Given the description of an element on the screen output the (x, y) to click on. 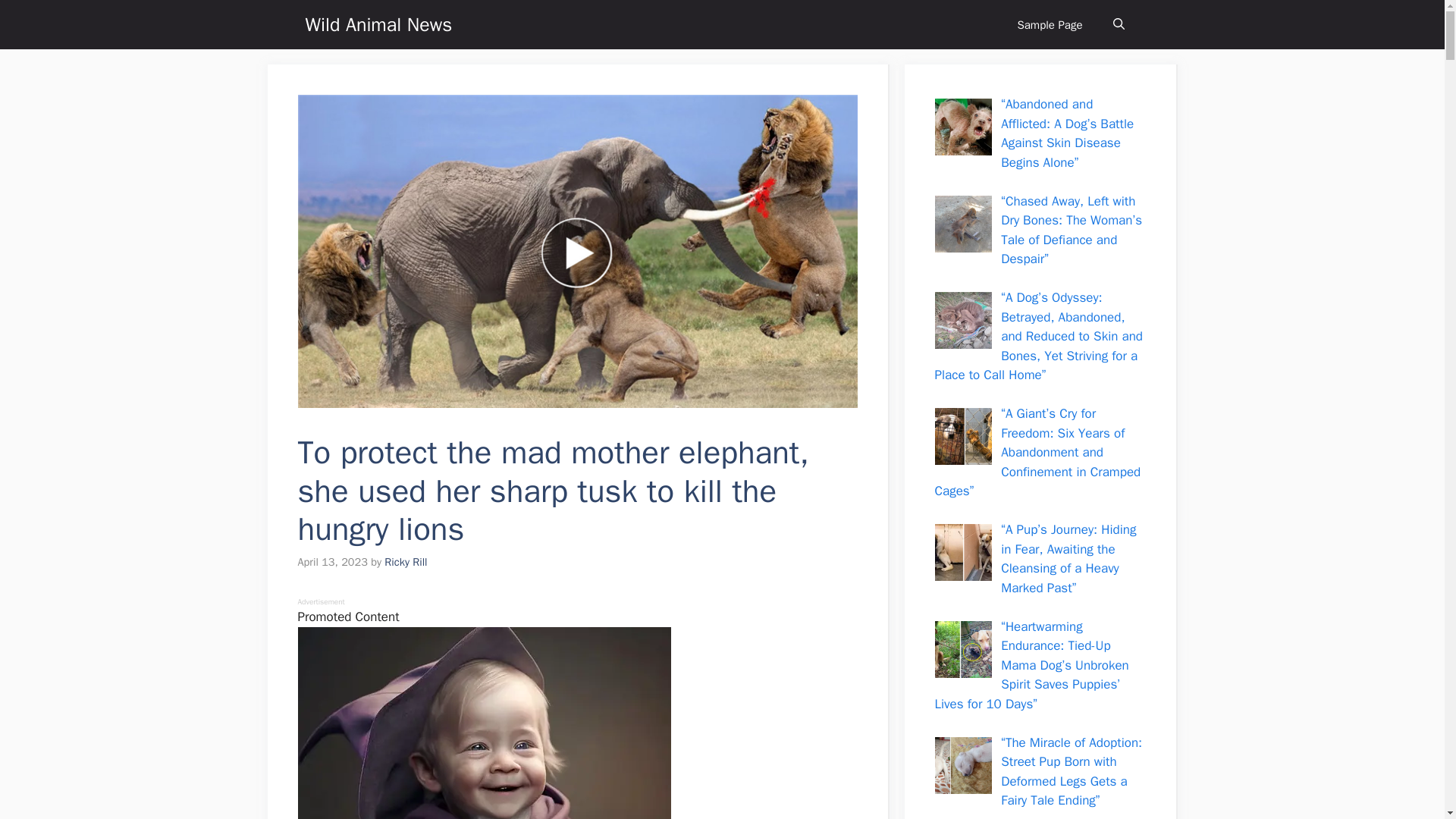
Ricky Rill (405, 561)
Sample Page (1050, 23)
View all posts by Ricky Rill (405, 561)
Wild Animal News (377, 24)
